Given the description of an element on the screen output the (x, y) to click on. 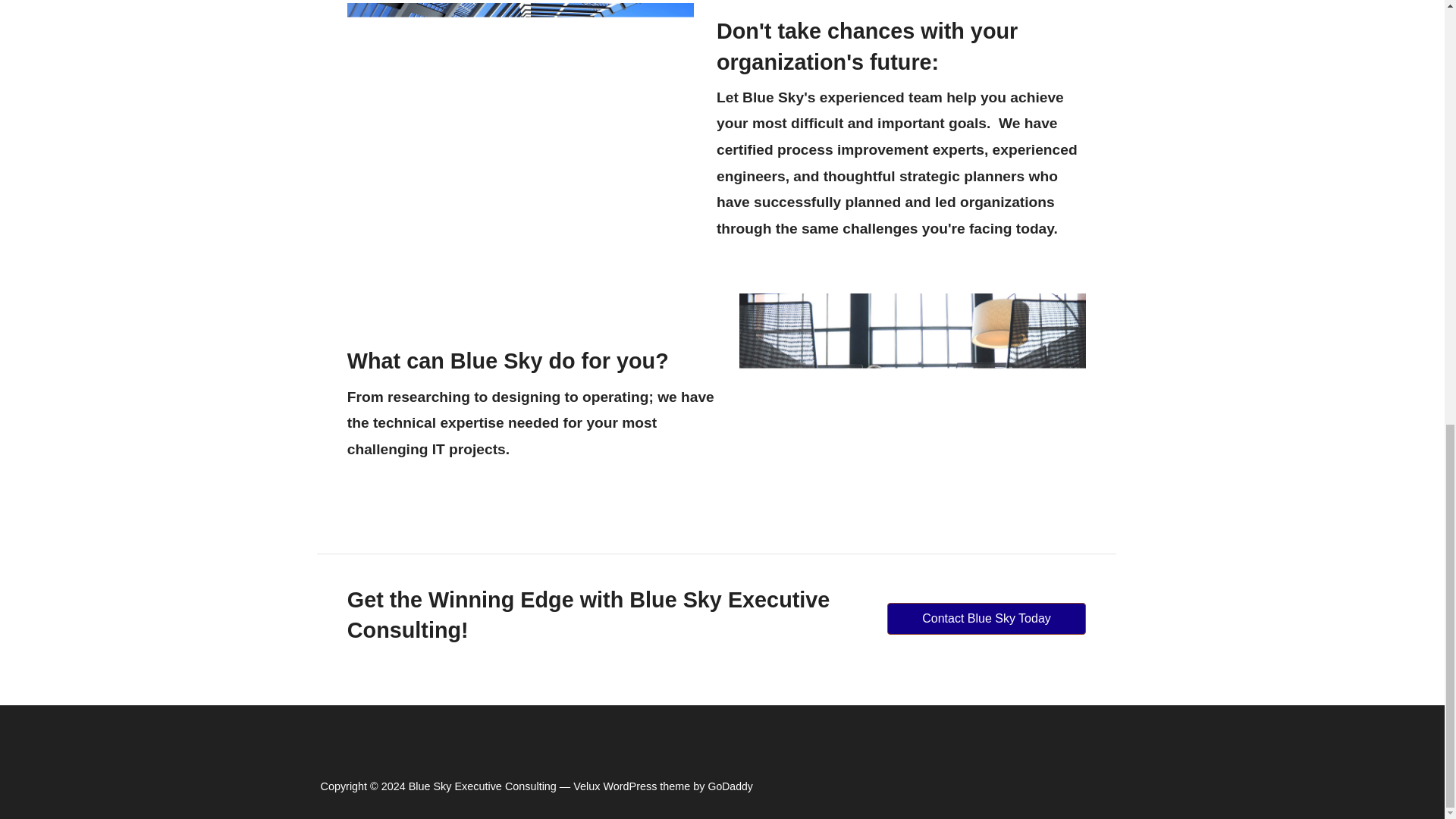
GoDaddy (729, 786)
services-2 (912, 408)
Contact Blue Sky Today (986, 618)
Skyscrapers (520, 132)
